Given the description of an element on the screen output the (x, y) to click on. 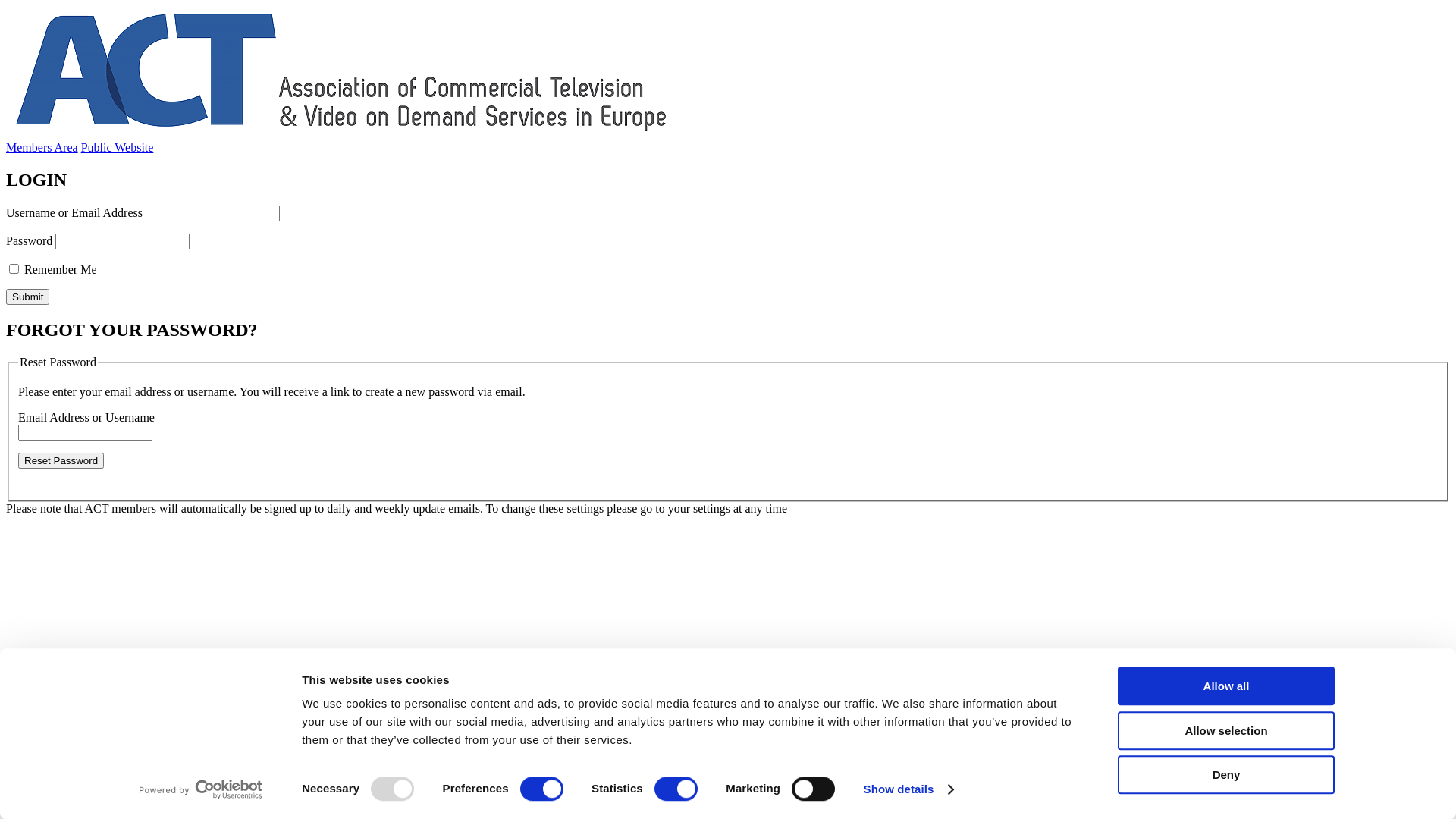
Reset Password Element type: text (60, 460)
Public Website Element type: text (117, 147)
Skip to content Element type: text (5, 5)
Allow all Element type: text (1225, 685)
Members Area Element type: text (42, 147)
Show details Element type: text (908, 789)
Deny Element type: text (1225, 774)
Submit Element type: text (27, 296)
Allow selection Element type: text (1225, 730)
